Given the description of an element on the screen output the (x, y) to click on. 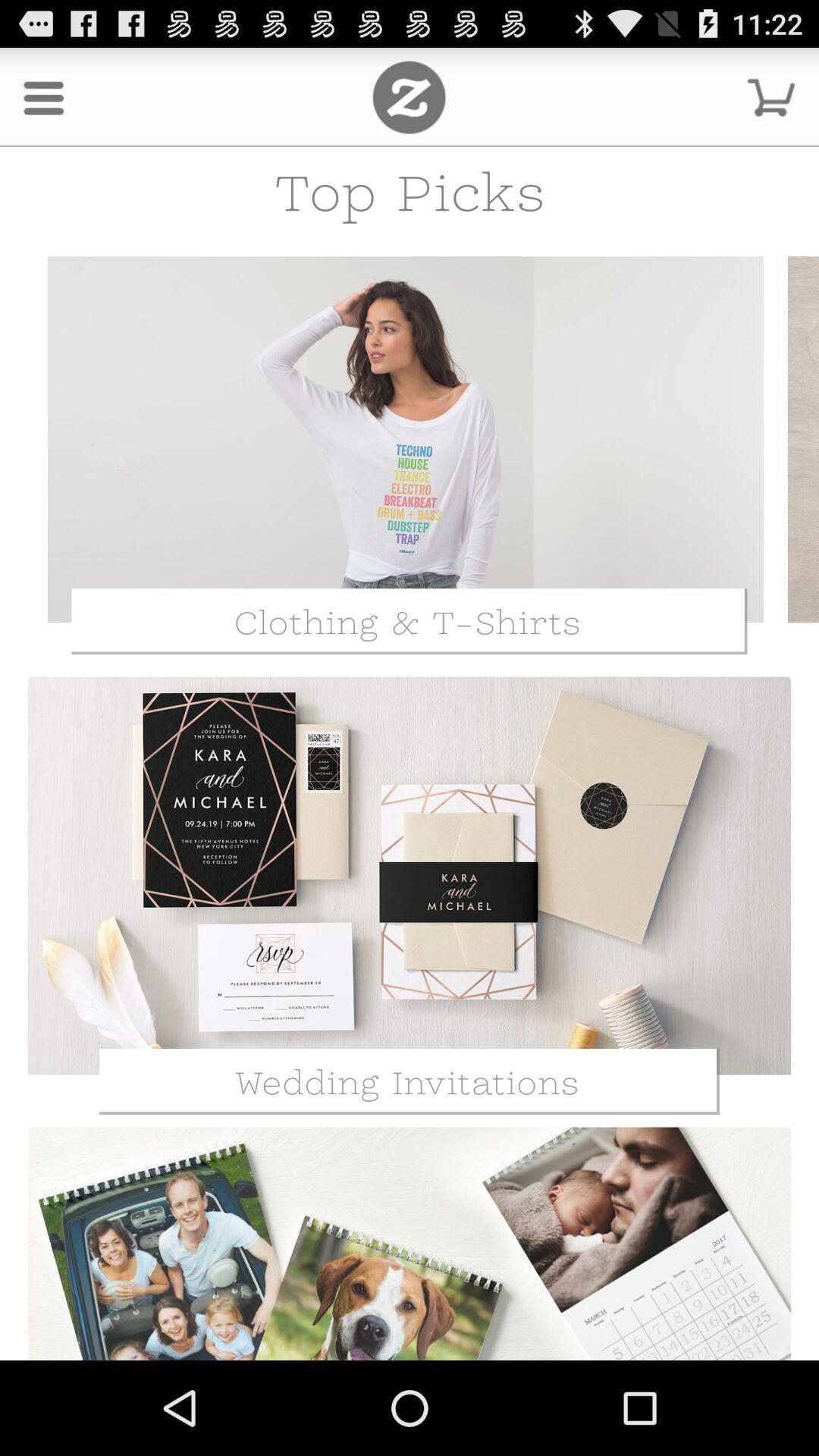
shopping cart (771, 97)
